Given the description of an element on the screen output the (x, y) to click on. 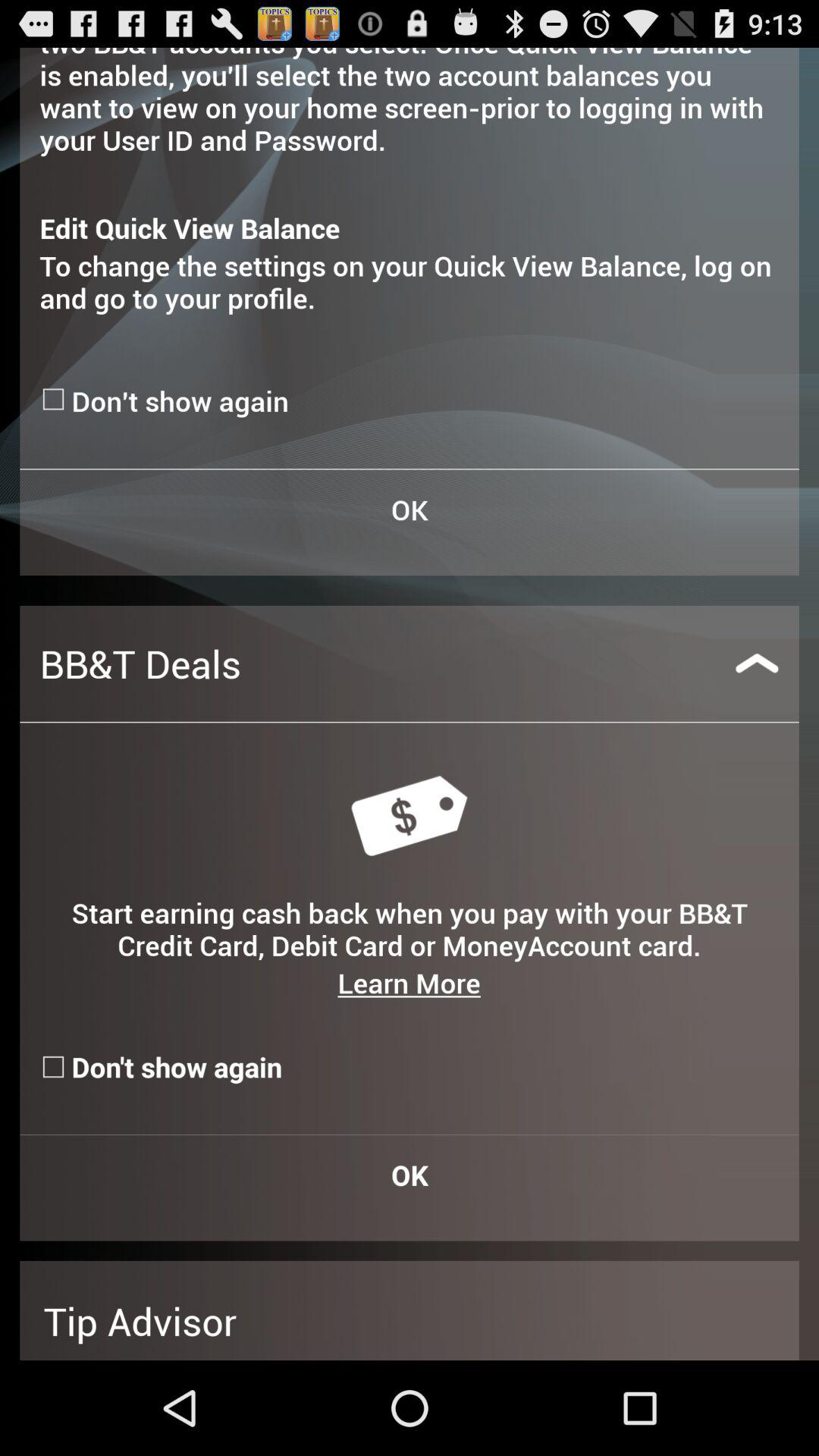
choose the learn more item (408, 982)
